Given the description of an element on the screen output the (x, y) to click on. 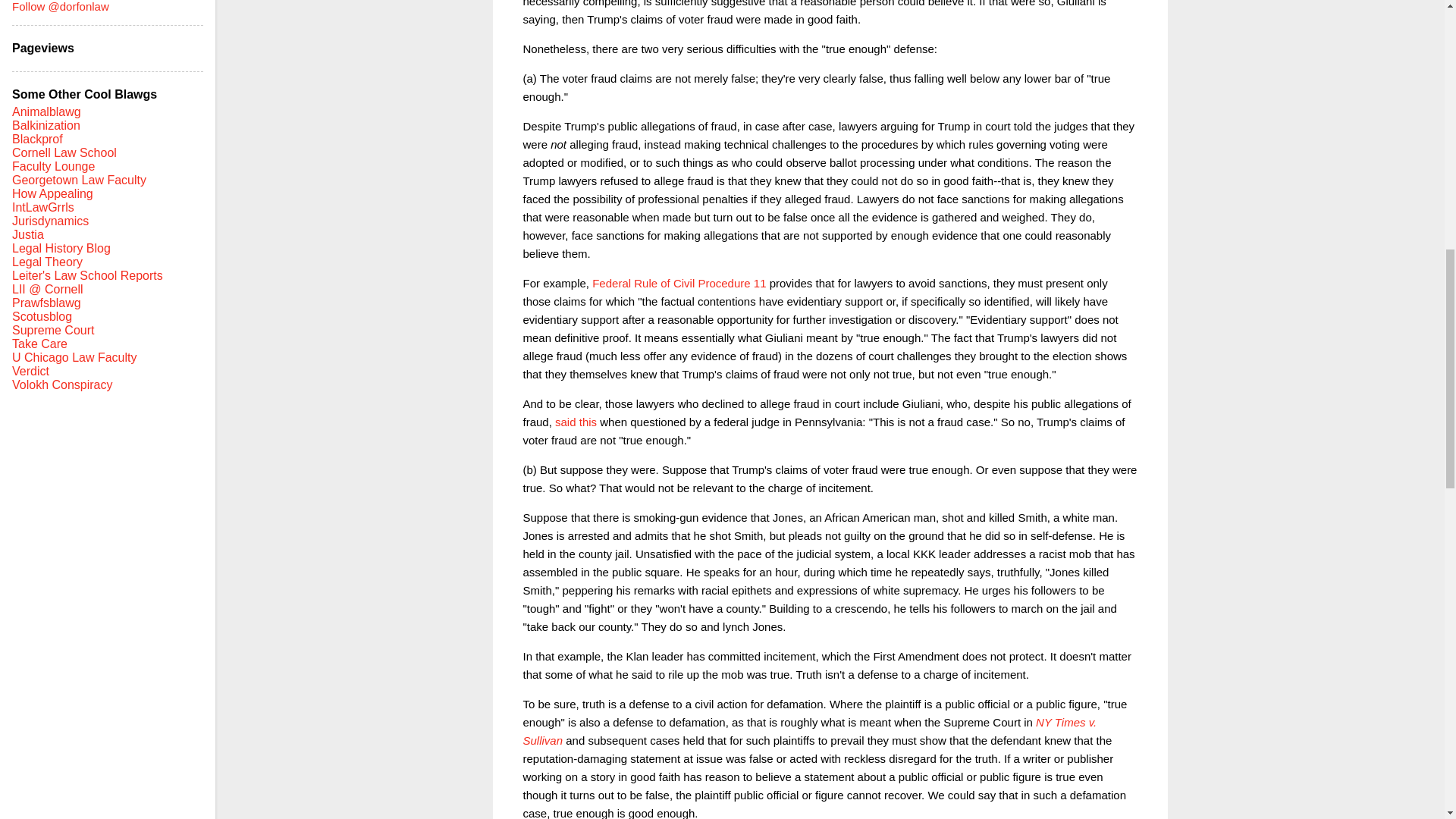
NY Times v. Sullivan (809, 730)
said this (575, 421)
Federal Rule of Civil Procedure 11 (678, 282)
